Given the description of an element on the screen output the (x, y) to click on. 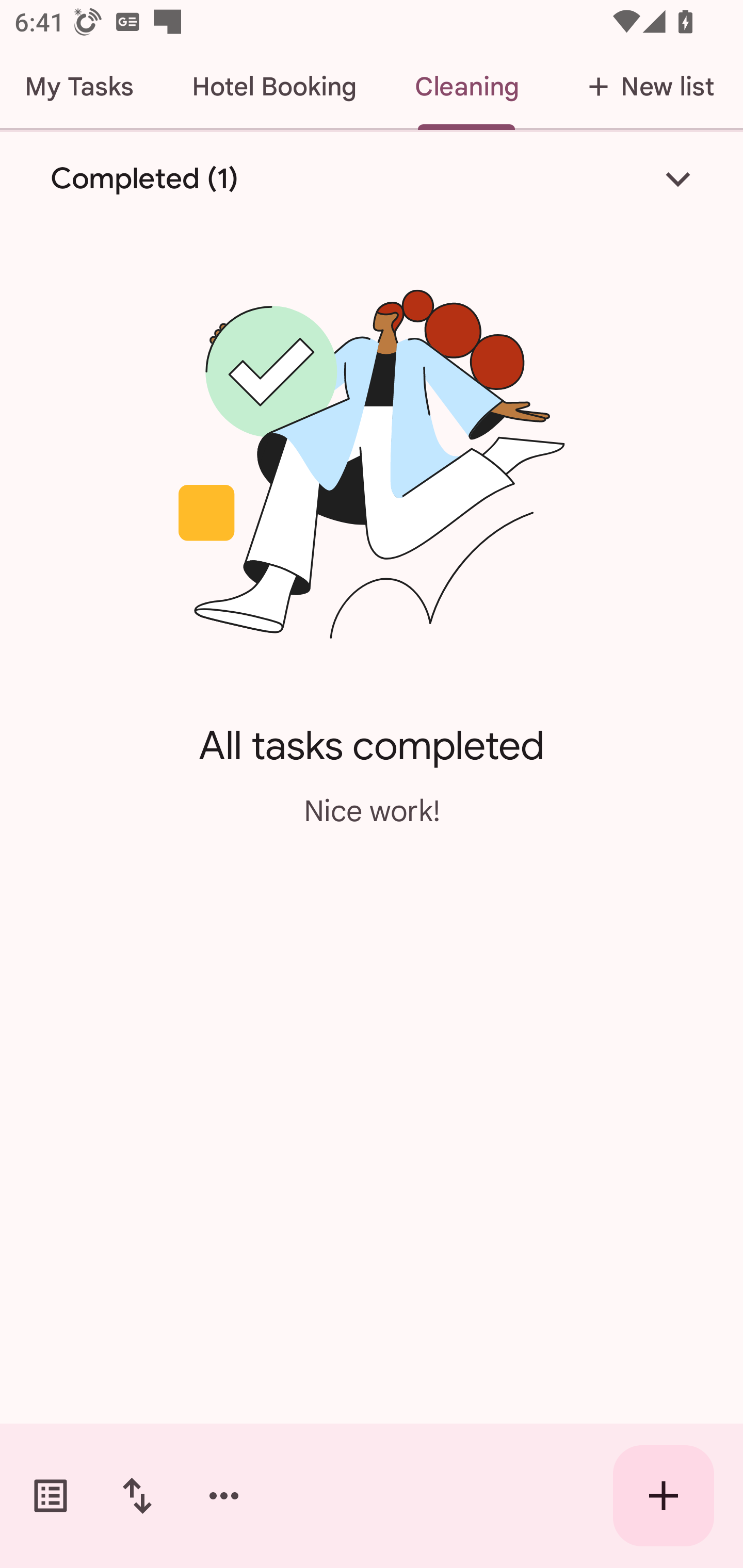
My Tasks (81, 86)
Hotel Booking (273, 86)
New list (645, 86)
Completed (1) (371, 178)
Switch task lists (50, 1495)
Create new task (663, 1495)
Change sort order (136, 1495)
More options (223, 1495)
